Given the description of an element on the screen output the (x, y) to click on. 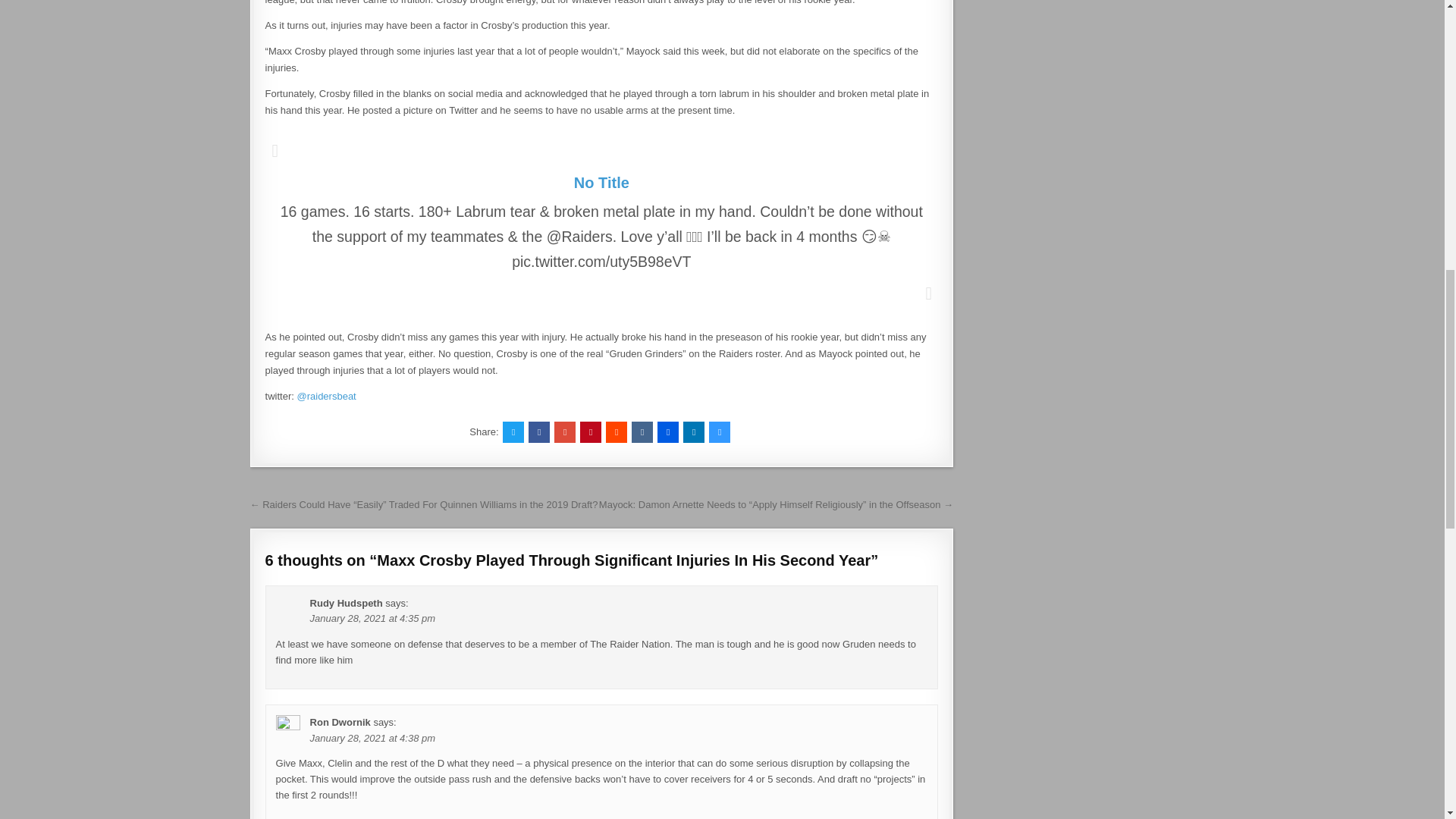
Share this on Pinterest (590, 432)
Share this on VK (641, 432)
Share this on Linkedin (693, 432)
Share this on Reddit (616, 432)
Share this on Digg (668, 432)
No Title (600, 182)
January 28, 2021 at 4:38 pm (372, 737)
Share this on Delicious (719, 432)
January 28, 2021 at 4:35 pm (372, 618)
Share this on Facebook (539, 432)
Tweet This! (513, 432)
